Given the description of an element on the screen output the (x, y) to click on. 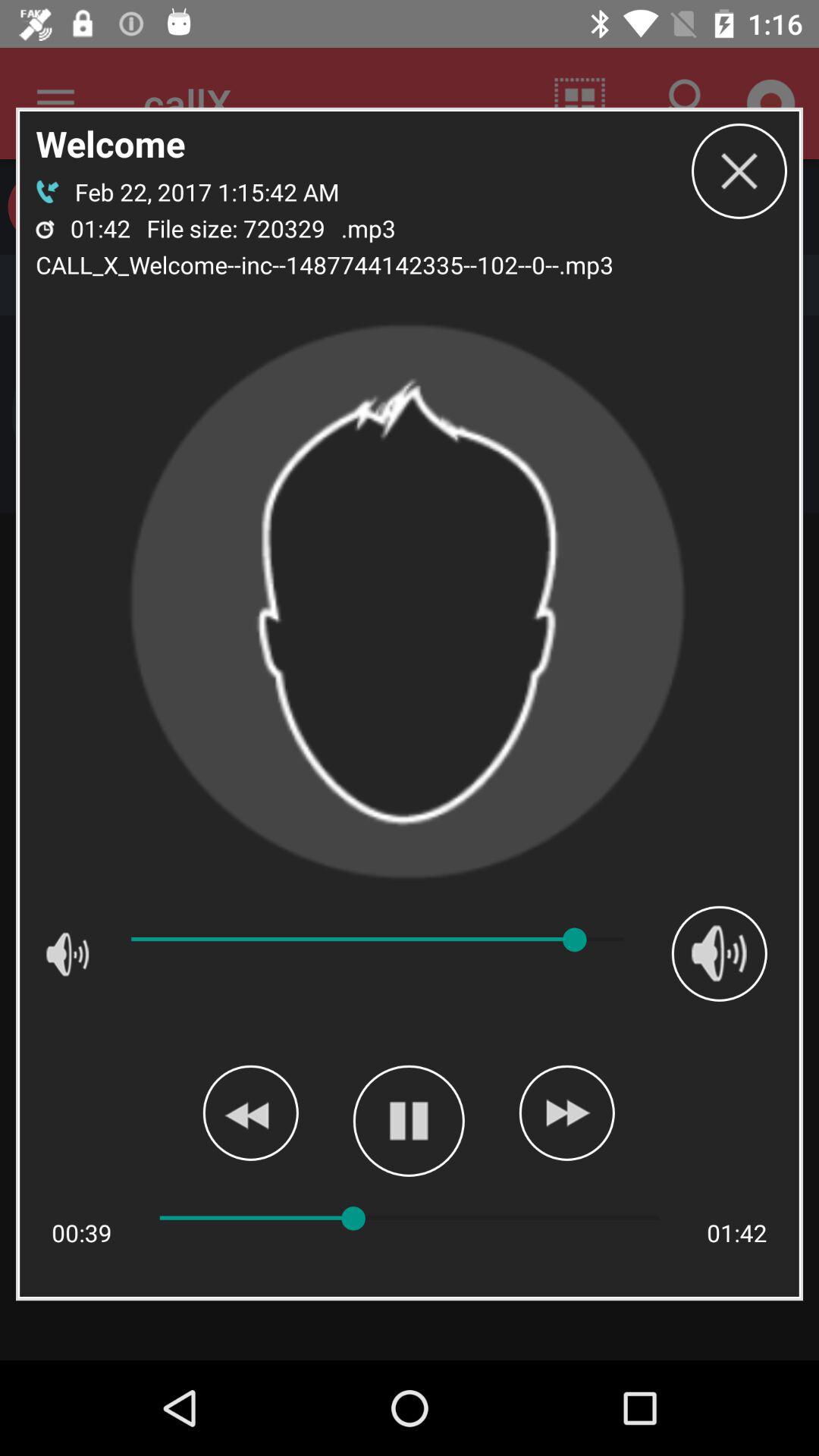
close box (739, 170)
